Given the description of an element on the screen output the (x, y) to click on. 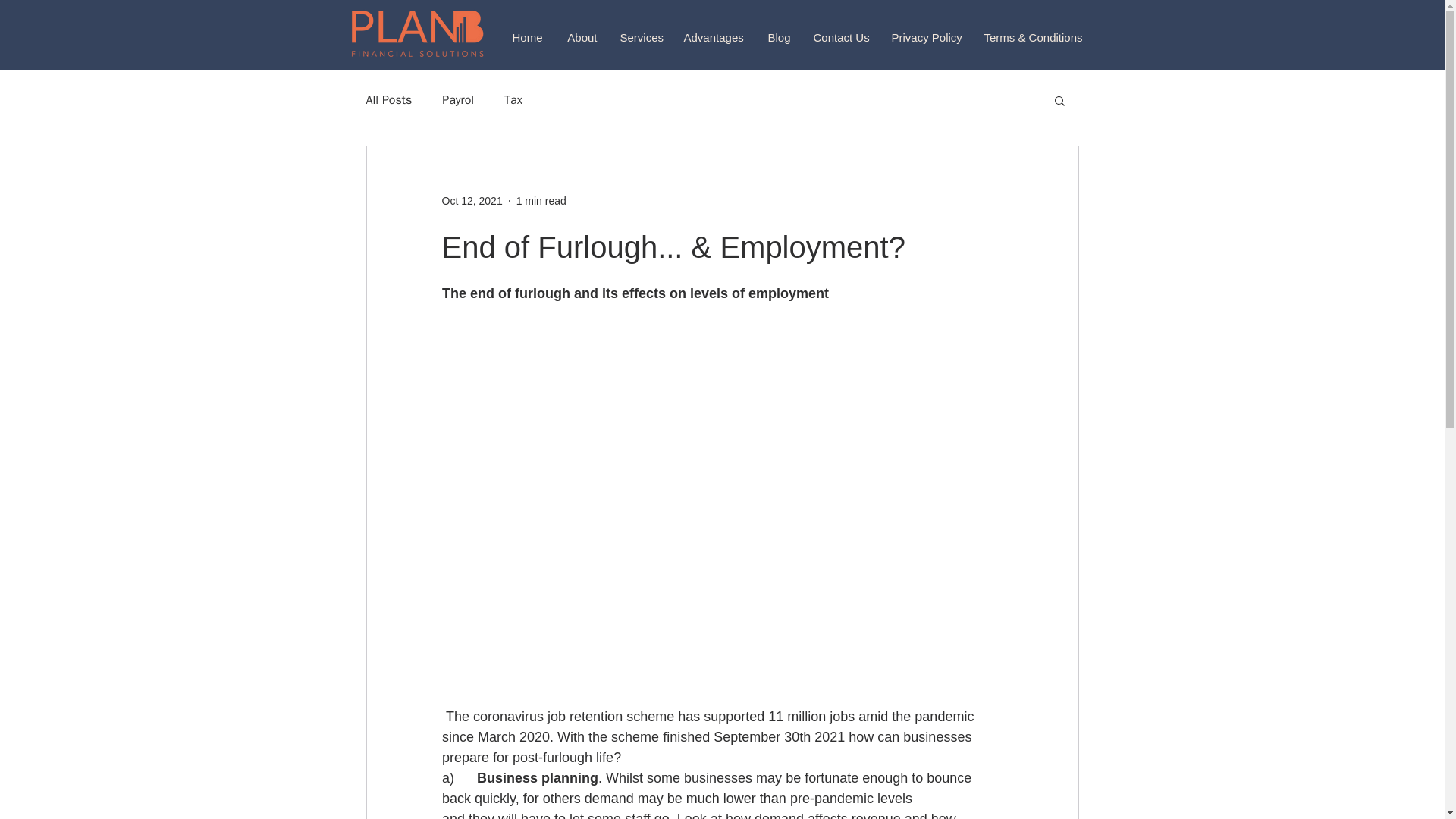
Home (526, 37)
1 min read (541, 200)
Contact Us (841, 37)
Advantages (712, 37)
Privacy Policy (925, 37)
Services (639, 37)
Payrol (458, 100)
Tax (512, 100)
Blog (778, 37)
About (580, 37)
